Given the description of an element on the screen output the (x, y) to click on. 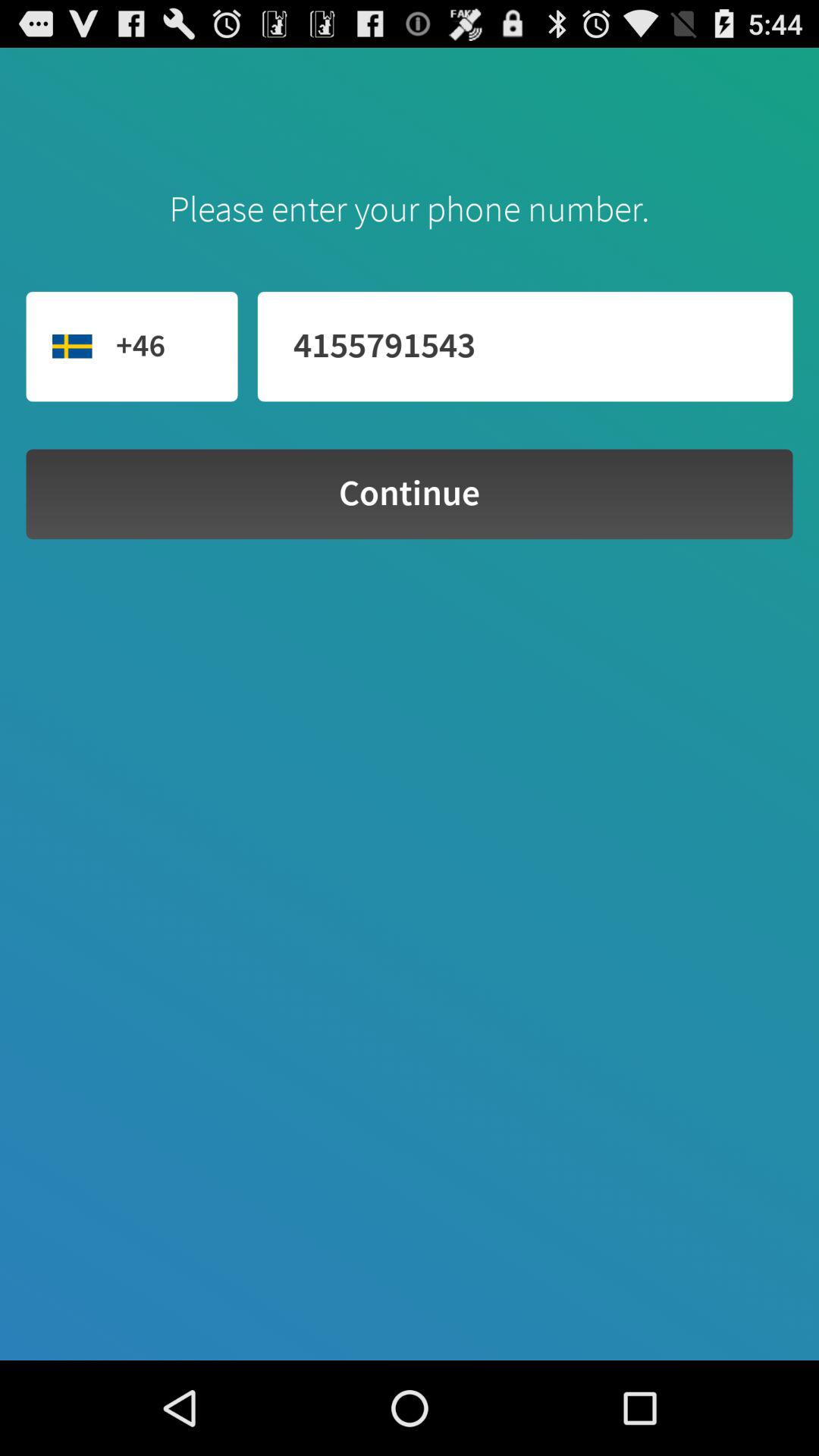
launch the icon at the center (409, 494)
